Given the description of an element on the screen output the (x, y) to click on. 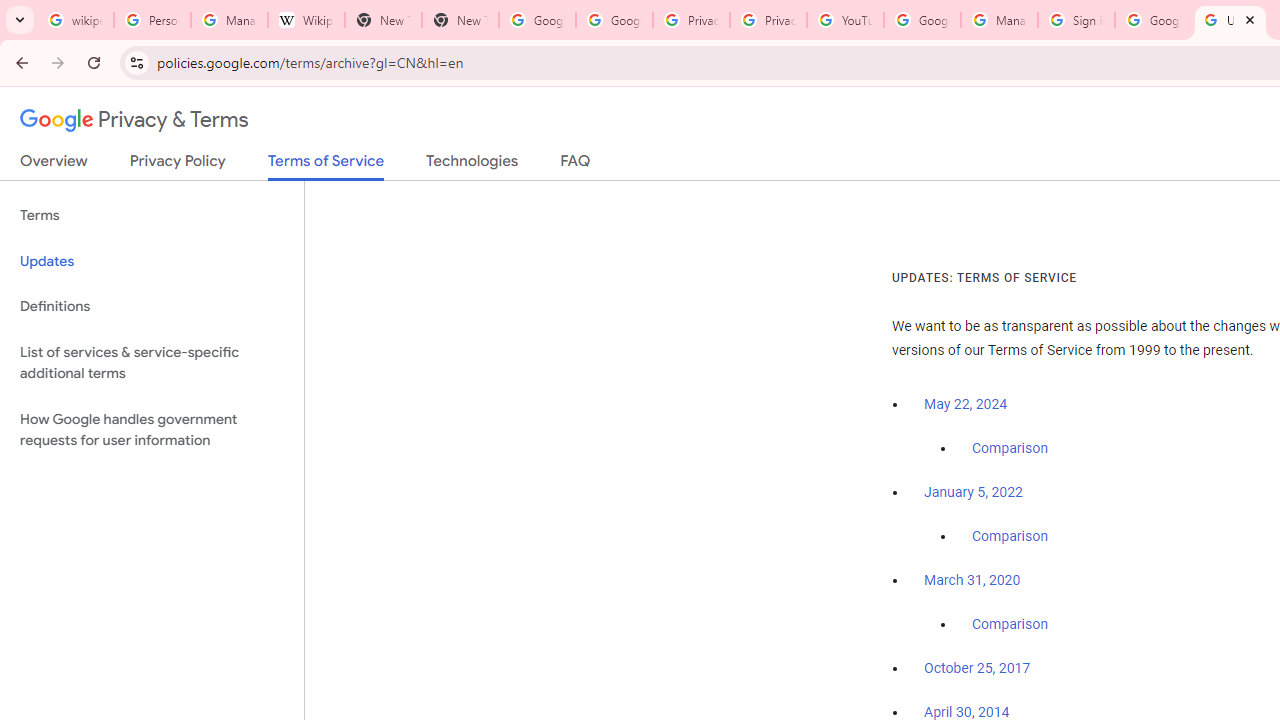
May 22, 2024 (966, 404)
New Tab (460, 20)
Terms (152, 215)
March 31, 2020 (972, 580)
Google Account Help (922, 20)
Technologies (472, 165)
Overview (54, 165)
How Google handles government requests for user information (152, 429)
YouTube (845, 20)
Manage your Location History - Google Search Help (228, 20)
